Given the description of an element on the screen output the (x, y) to click on. 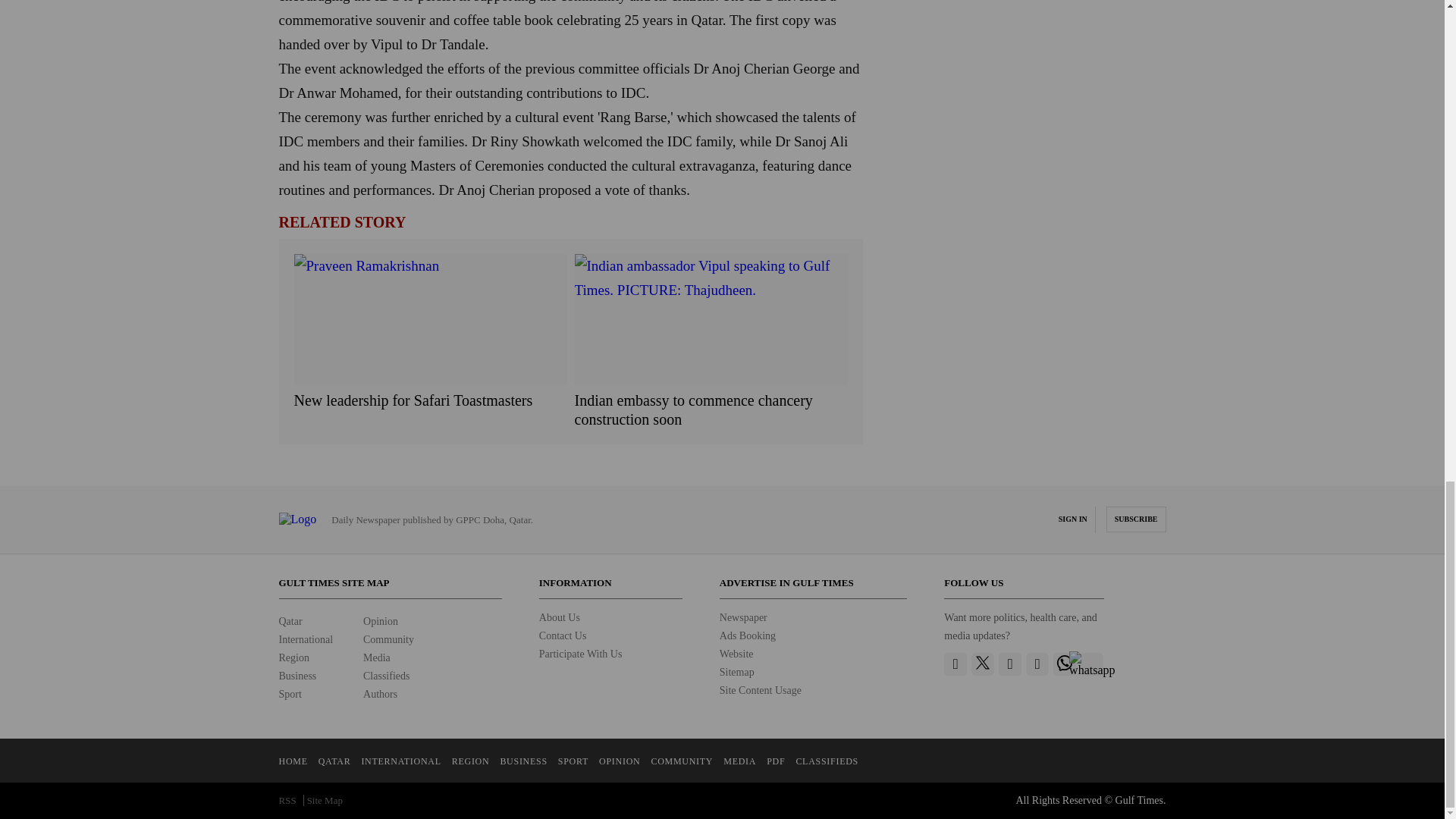
Qatar (290, 621)
New leadership for Safari Toastmasters (430, 400)
Media (376, 657)
SUBSCRIBE (1136, 519)
Region (293, 657)
Contact Us (562, 635)
SIGN IN (1072, 519)
About Us (558, 617)
Authors (379, 694)
Business (298, 675)
Sport (290, 694)
Indian embassy to commence chancery construction soon (711, 410)
International (306, 639)
Community (387, 639)
Opinion (379, 621)
